Given the description of an element on the screen output the (x, y) to click on. 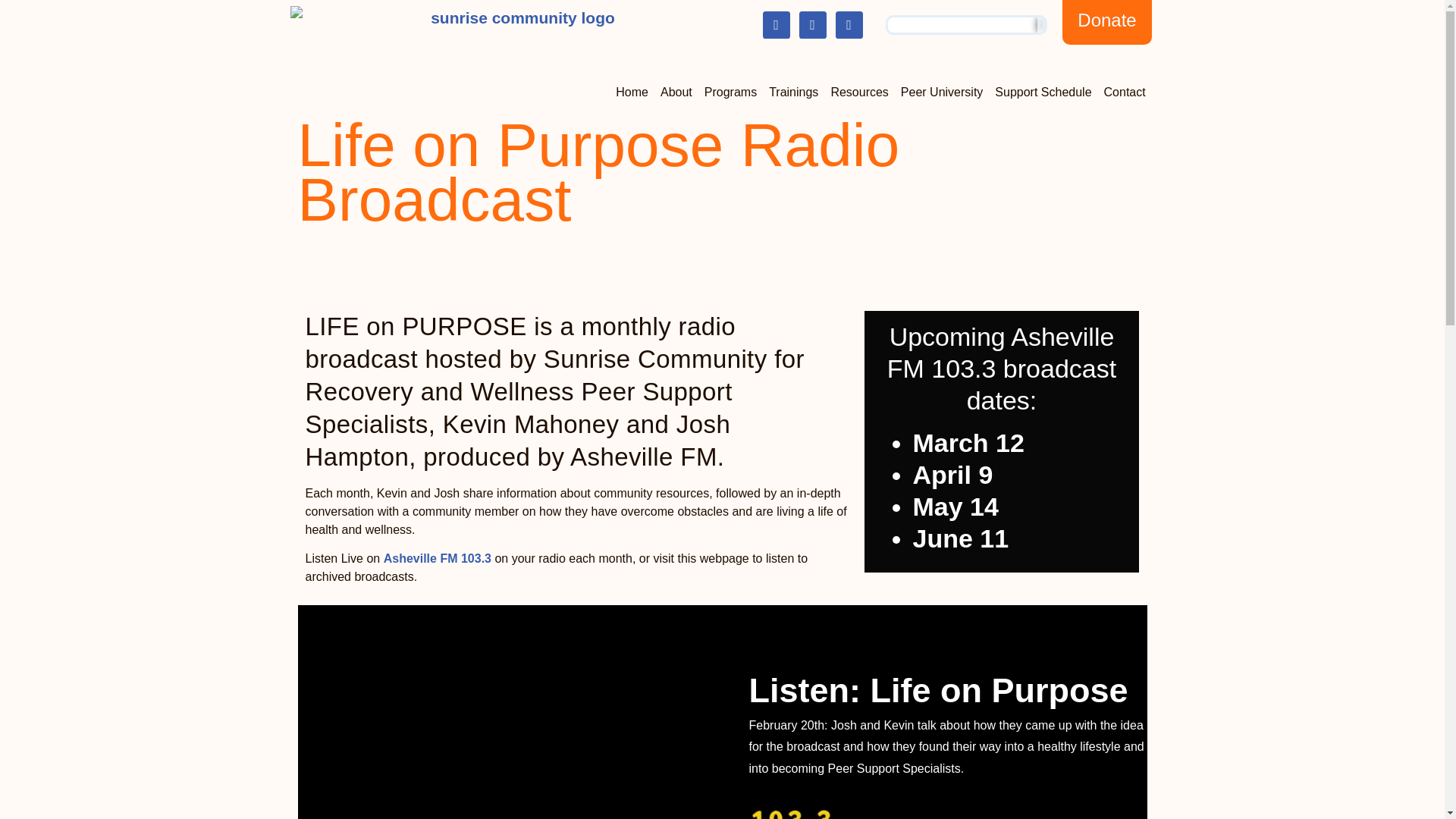
Home (631, 92)
Resources (858, 92)
Trainings (793, 92)
Programs (730, 92)
Donate (1106, 22)
About (675, 92)
